Given the description of an element on the screen output the (x, y) to click on. 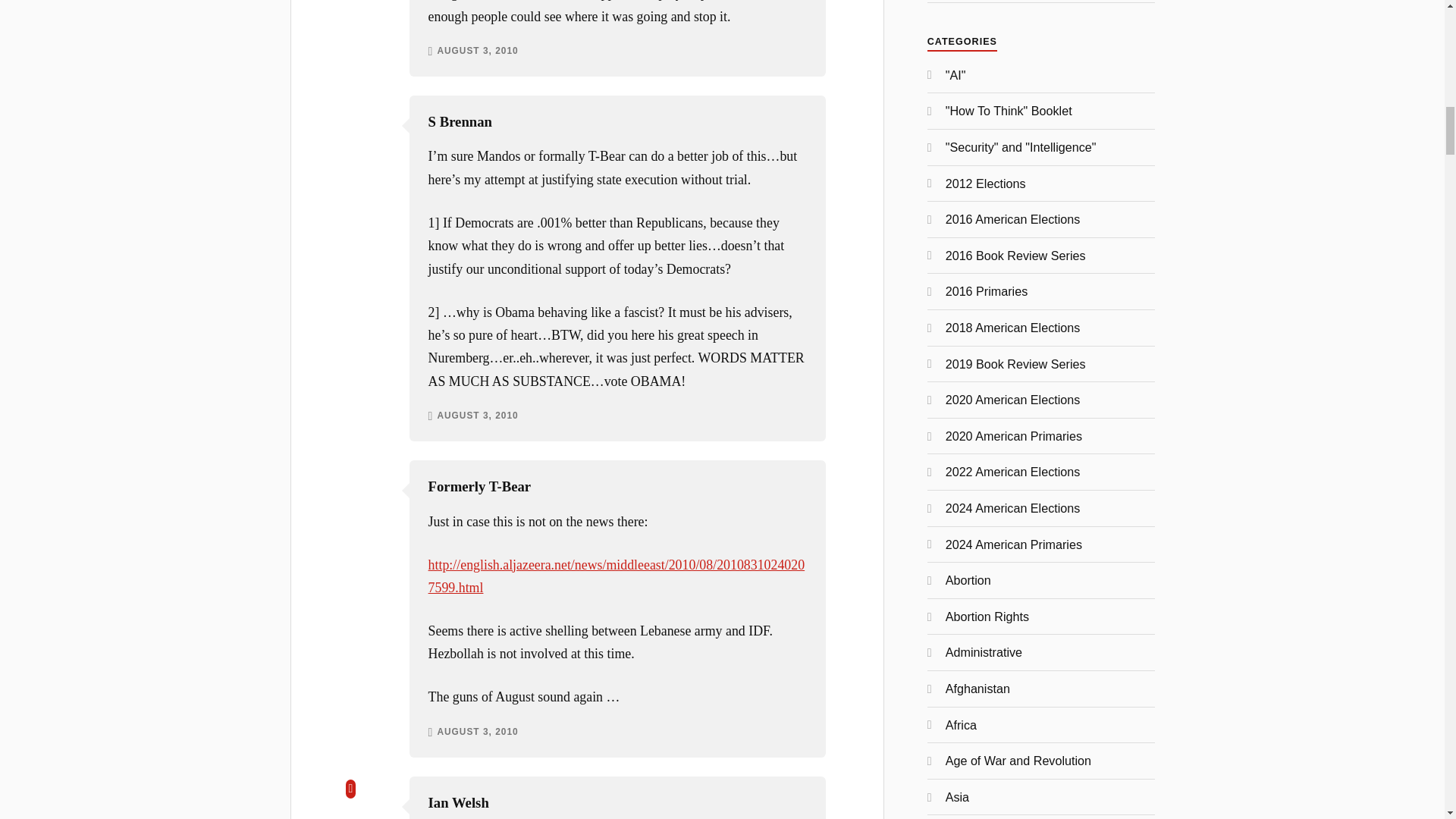
AUGUST 3, 2010 (477, 415)
AUGUST 3, 2010 (477, 732)
AUGUST 3, 2010 (477, 51)
